Given the description of an element on the screen output the (x, y) to click on. 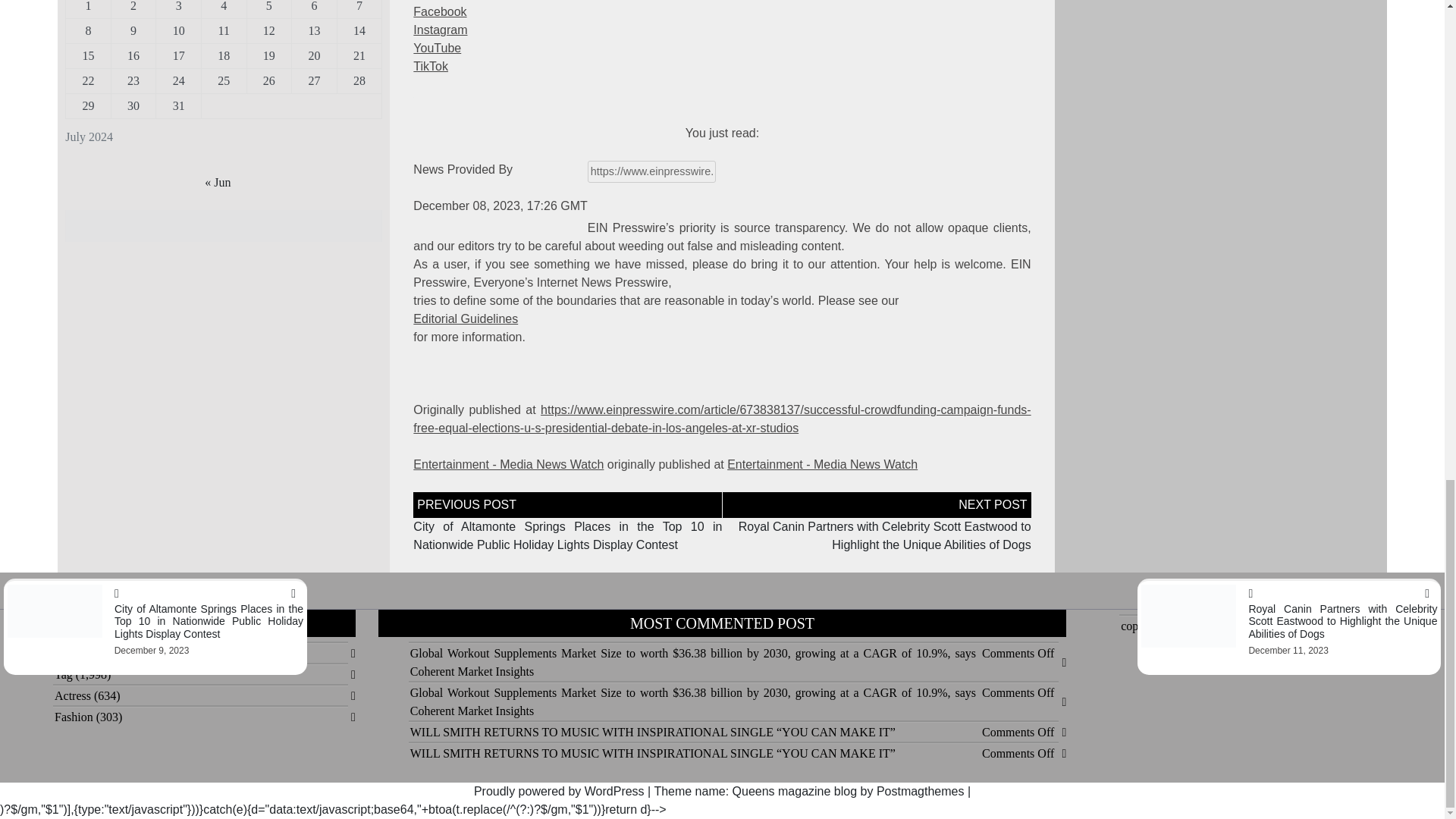
10 (178, 30)
